Given the description of an element on the screen output the (x, y) to click on. 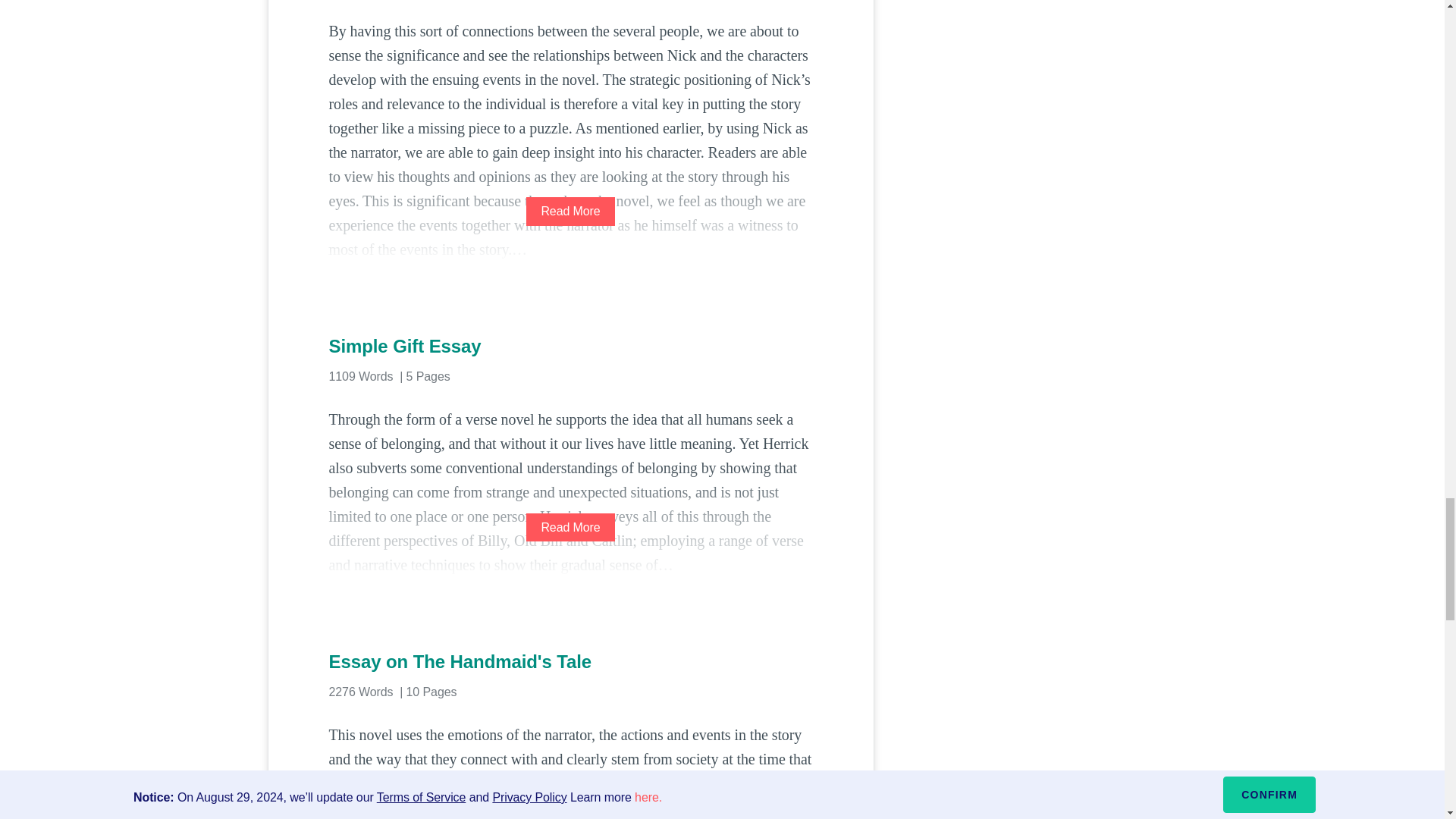
Simple Gift Essay (570, 346)
Read More (569, 211)
Read More (569, 527)
Essay on The Handmaid's Tale (570, 662)
